Given the description of an element on the screen output the (x, y) to click on. 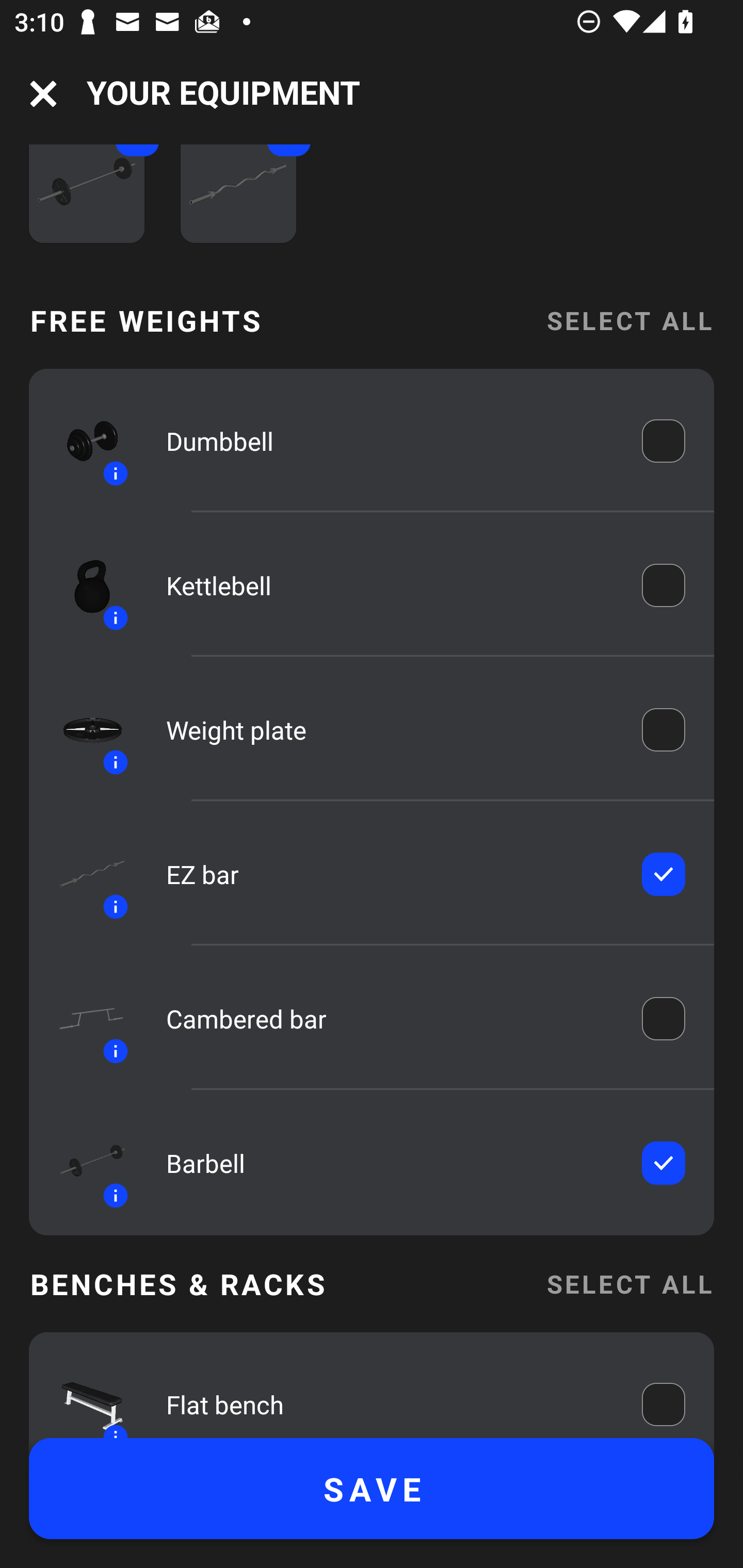
Navigation icon (43, 93)
SELECT ALL (629, 320)
Equipment icon Information icon (82, 441)
Dumbbell (389, 441)
Equipment icon Information icon (82, 585)
Kettlebell (389, 585)
Equipment icon Information icon (82, 729)
Weight plate (389, 729)
Equipment icon Information icon (82, 874)
EZ bar (389, 874)
Equipment icon Information icon (82, 1018)
Cambered bar (389, 1018)
Equipment icon Information icon (82, 1162)
Barbell (389, 1162)
SELECT ALL (629, 1283)
Equipment icon Information icon (82, 1393)
Flat bench (389, 1399)
SAVE (371, 1488)
